Given the description of an element on the screen output the (x, y) to click on. 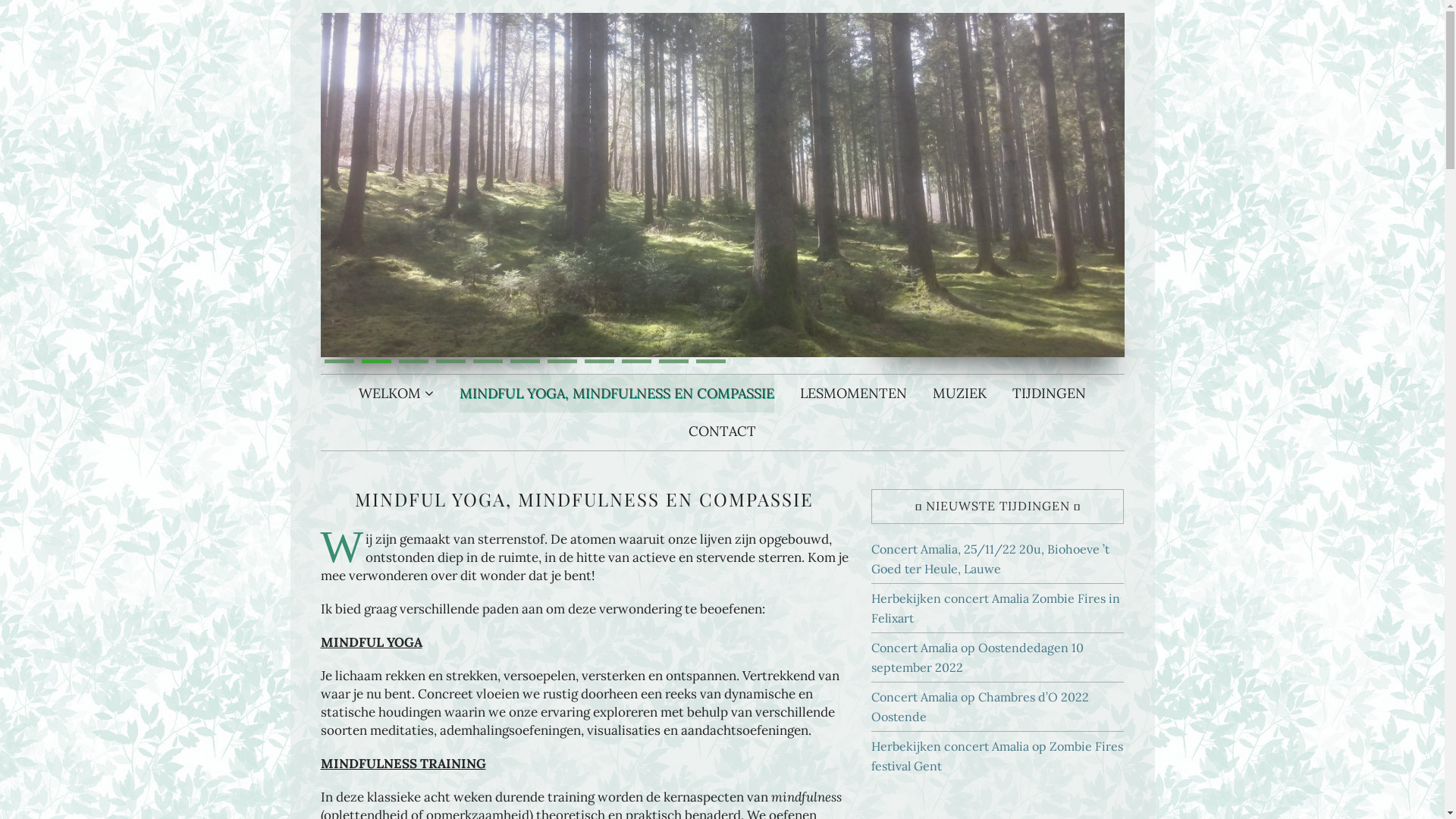
4 Element type: text (449, 361)
9 Element type: text (636, 361)
Herbekijken concert Amalia Zombie Fires in Felixart Element type: text (995, 607)
LESMOMENTEN Element type: text (853, 393)
TIJDINGEN Element type: text (1048, 393)
10 Element type: text (672, 361)
3 Element type: text (413, 361)
5 Element type: text (487, 361)
6 Element type: text (524, 361)
Herbekijken concert Amalia op Zombie Fires festival Gent Element type: text (997, 755)
11 Element type: text (710, 361)
MUZIEK Element type: text (959, 393)
7 Element type: text (562, 361)
MINDFUL YOGA, MINDFULNESS EN COMPASSIE Element type: text (616, 393)
2 Element type: text (375, 361)
8 Element type: text (598, 361)
1 Element type: text (339, 361)
WELKOM Element type: text (395, 393)
CONTACT Element type: text (722, 431)
Concert Amalia op Oostendedagen 10 september 2022 Element type: text (977, 657)
